Given the description of an element on the screen output the (x, y) to click on. 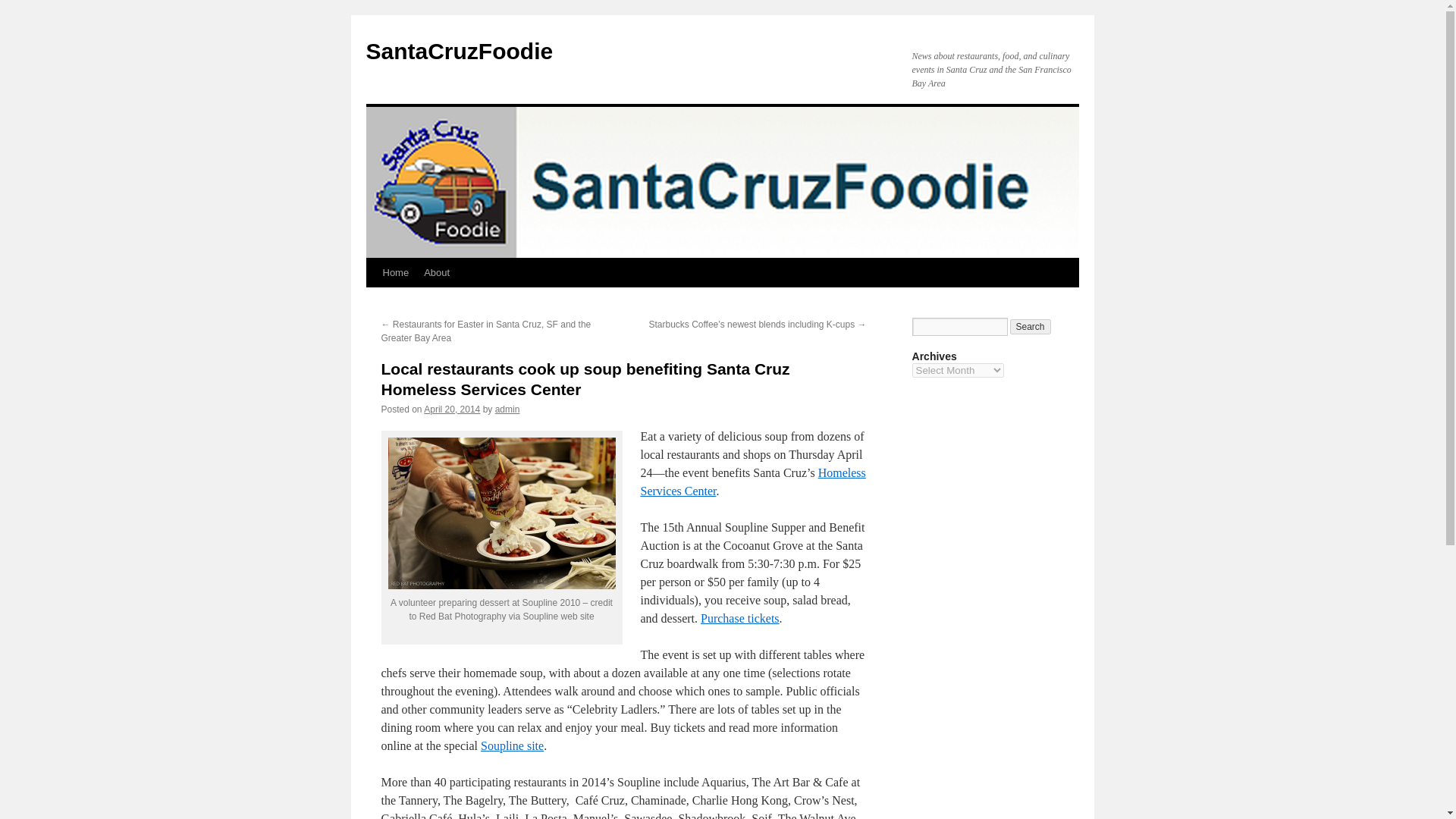
Purchase tickets (739, 617)
Home (395, 272)
SantaCruzFoodie (459, 50)
April 20, 2014 (451, 409)
Homeless Services Center (752, 481)
Soupline site (511, 745)
4:28 pm (451, 409)
Search (1030, 326)
admin (507, 409)
Skip to content (372, 300)
View all posts by admin (507, 409)
About (436, 272)
